Given the description of an element on the screen output the (x, y) to click on. 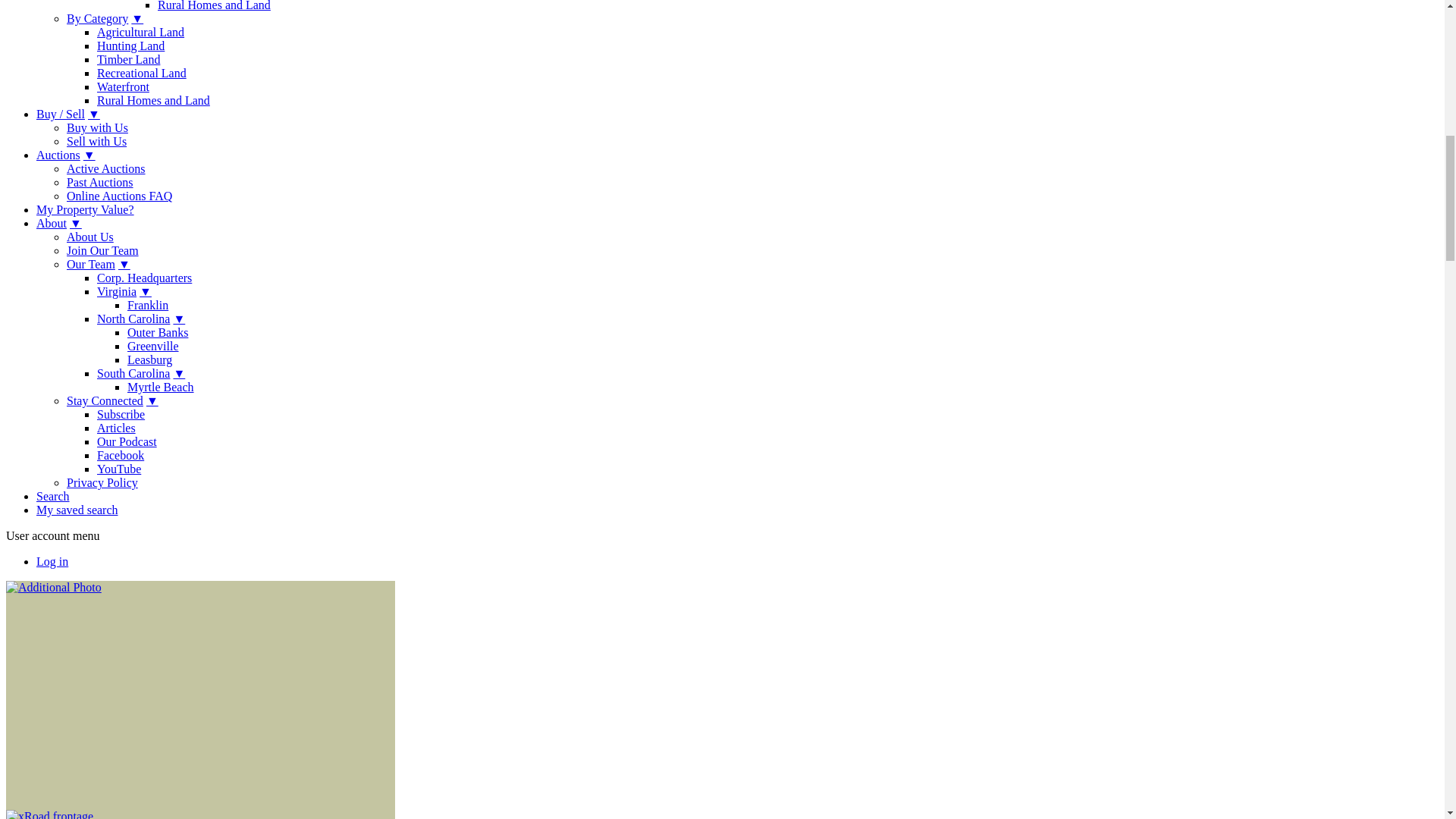
Past Auctions (99, 182)
Auctions Site (105, 168)
